Given the description of an element on the screen output the (x, y) to click on. 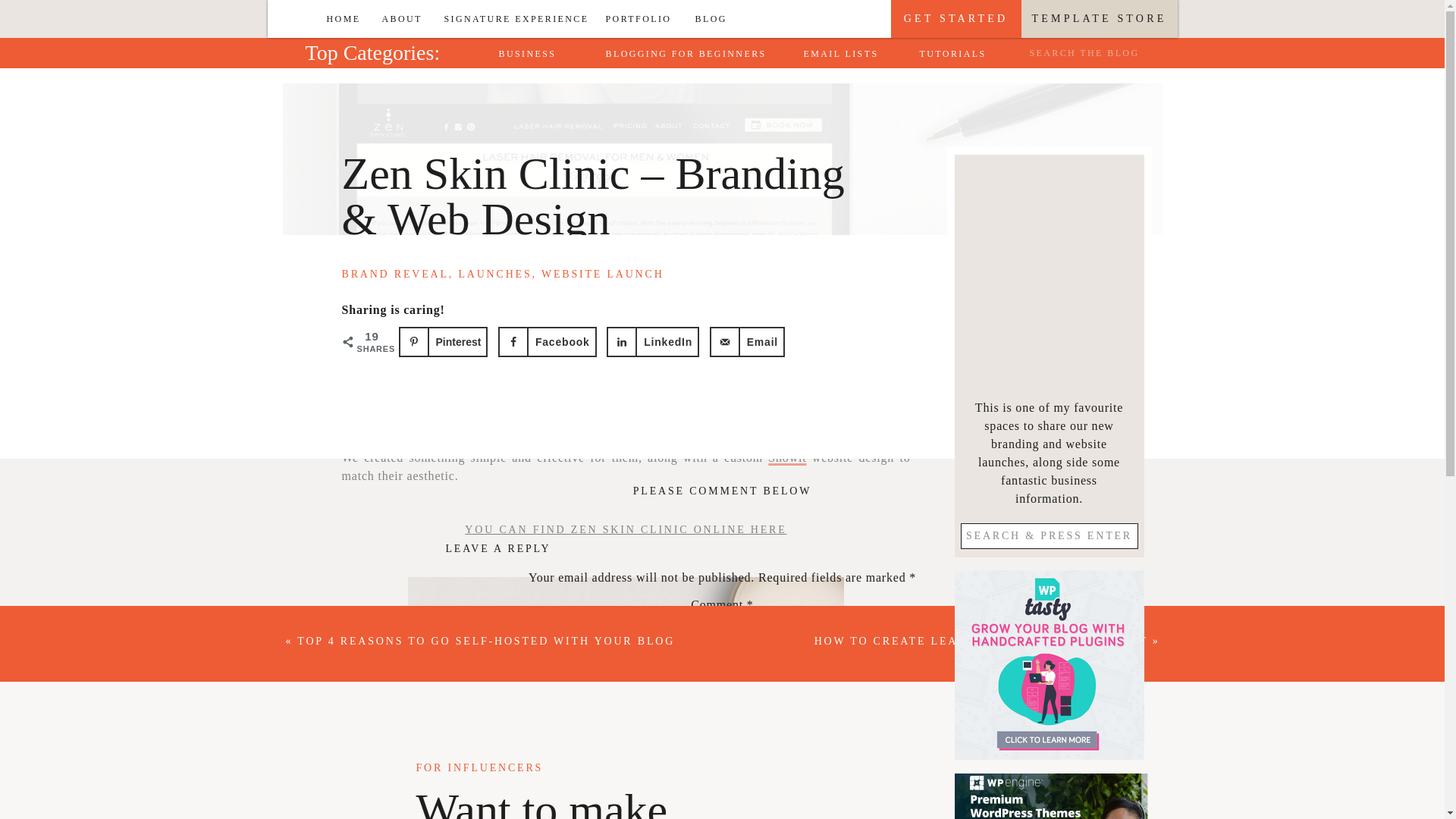
LinkedIn (652, 341)
Email (747, 341)
EMAIL LISTS (844, 52)
HOME (346, 18)
Pinterest (442, 341)
YOU CAN FIND ZEN SKIN CLINIC ONLINE HERE (625, 529)
PORTFOLIO (643, 18)
BRAND REVEAL (394, 274)
Share on Facebook (546, 341)
BLOGGING FOR BEGINNERS (688, 52)
